Given the description of an element on the screen output the (x, y) to click on. 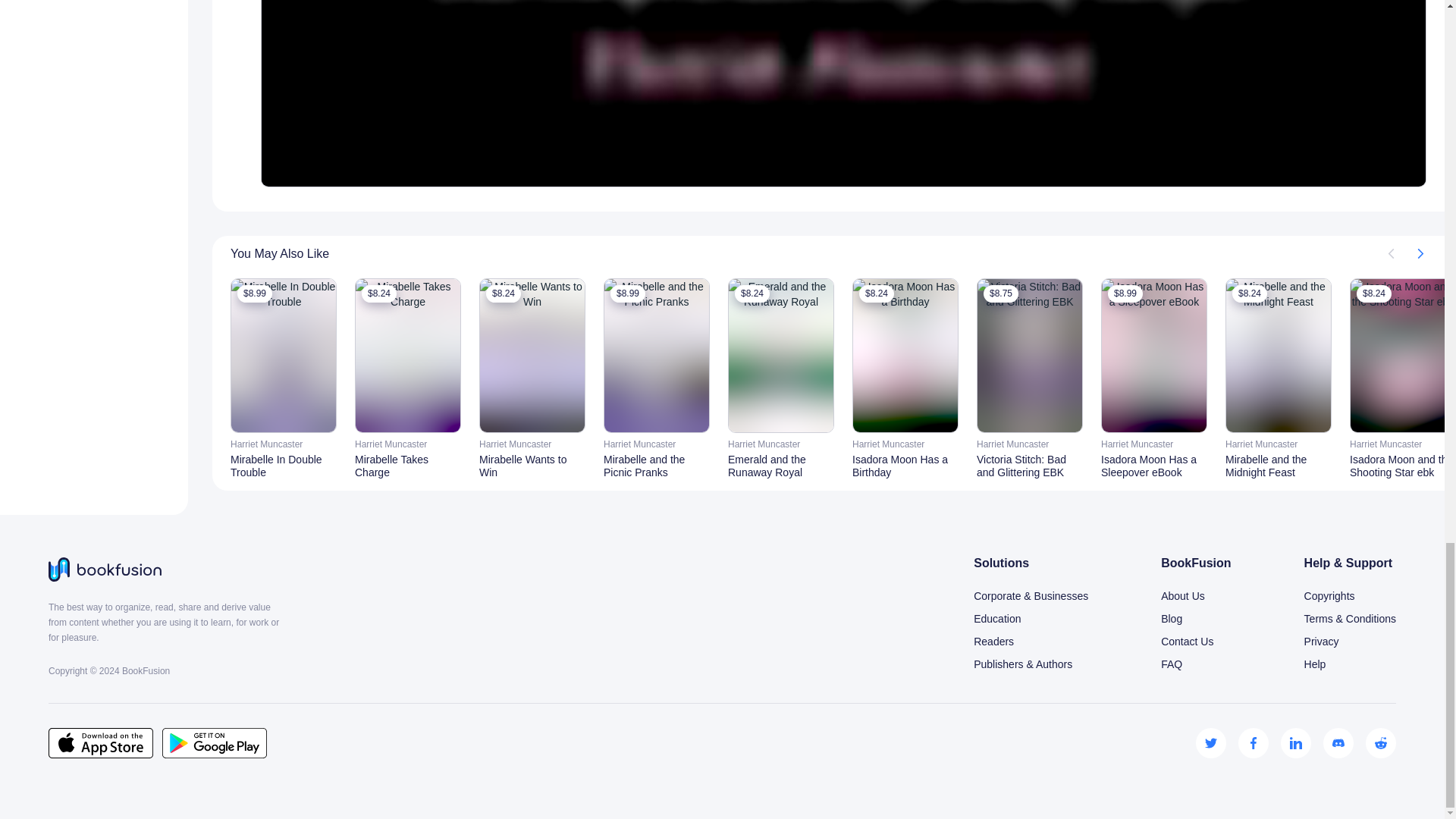
Mirabelle In Double Trouble (283, 466)
Mirabelle and the Picnic Pranks (657, 466)
Harriet Muncaster (657, 444)
Mirabelle Takes Charge (408, 466)
Harriet Muncaster (781, 444)
Harriet Muncaster (532, 444)
Emerald and the Runaway Royal (781, 466)
Harriet Muncaster (408, 444)
Isadora Moon Has a Sleepover eBook (1153, 466)
Harriet Muncaster (904, 444)
Mirabelle Wants to Win (532, 466)
Mirabelle Wants to Win (532, 466)
Mirabelle and the Picnic Pranks (657, 466)
Isadora Moon Has a Birthday (904, 466)
Mirabelle Takes Charge (408, 466)
